Given the description of an element on the screen output the (x, y) to click on. 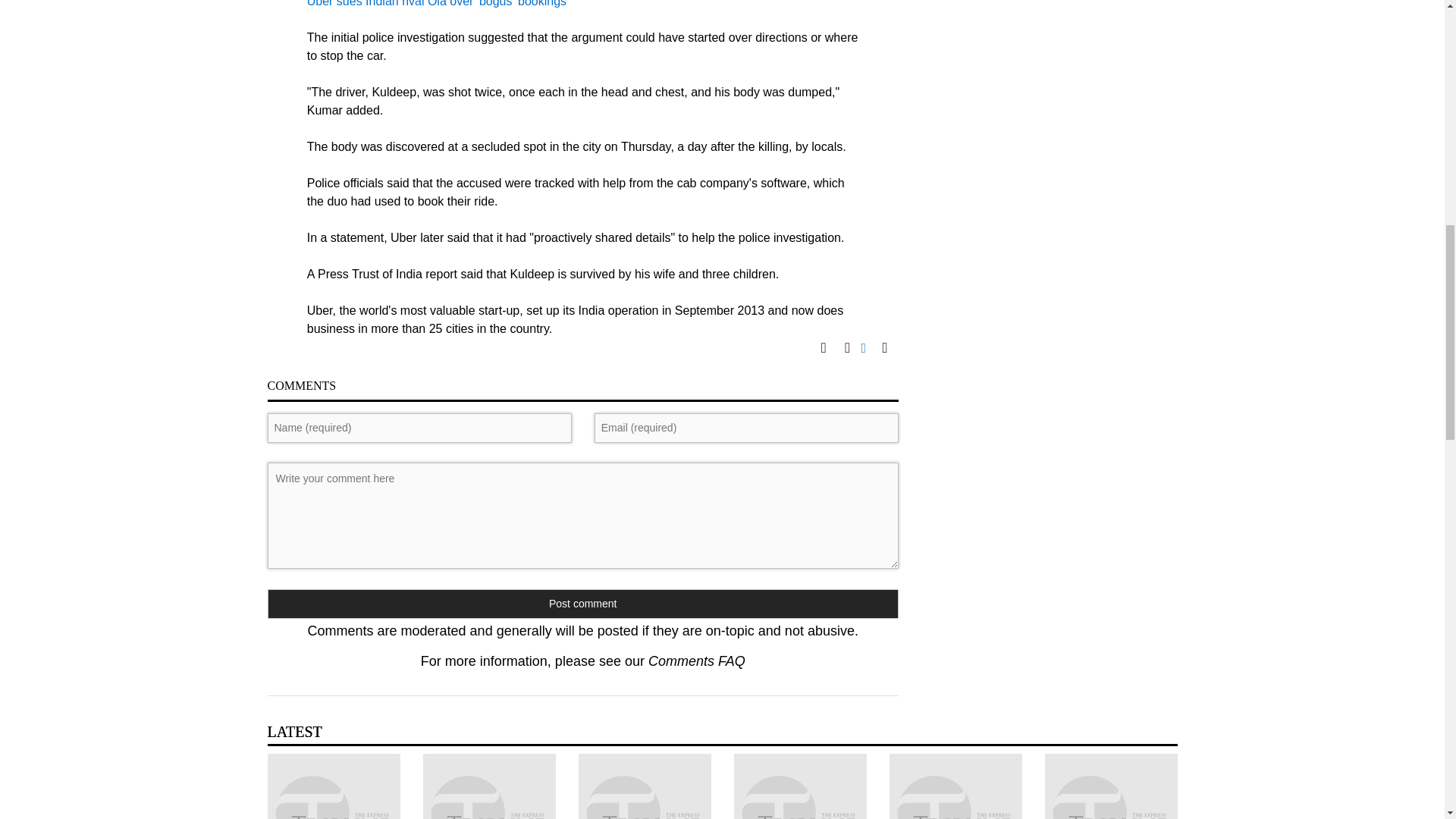
Comments FAQ (696, 661)
Post comment (582, 603)
Post comment (582, 603)
linkded (871, 350)
masoud pezeshkian sworn in as iran s ninth president (799, 786)
fbi says trump shooter posted violent content online (644, 786)
Uber sues Indian rival Ola over 'bogus' bookings (436, 3)
